Given the description of an element on the screen output the (x, y) to click on. 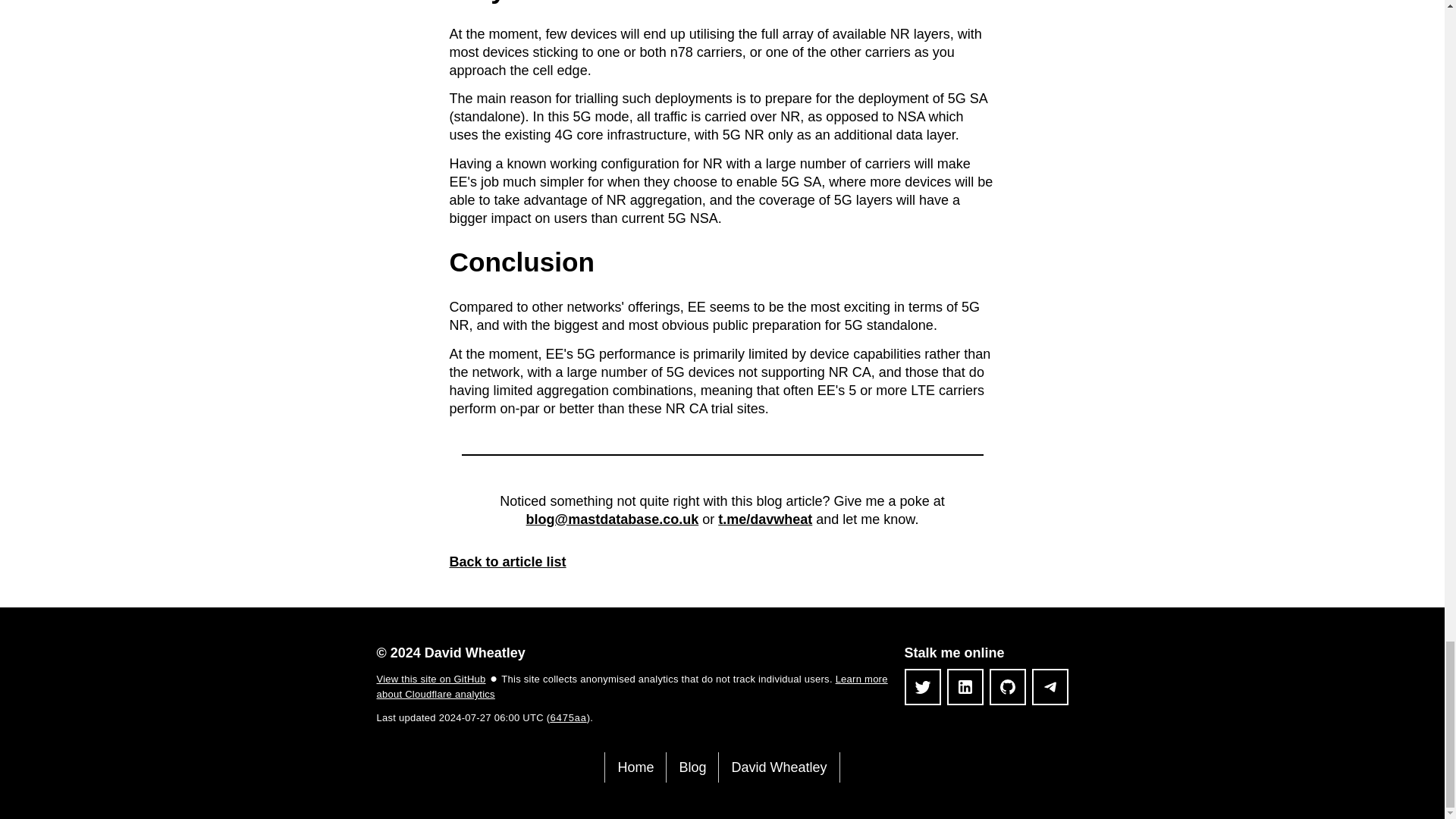
View this site on GitHub (429, 678)
Learn more about Cloudflare analytics (630, 687)
Back to article list (507, 561)
6475aa (568, 717)
